Given the description of an element on the screen output the (x, y) to click on. 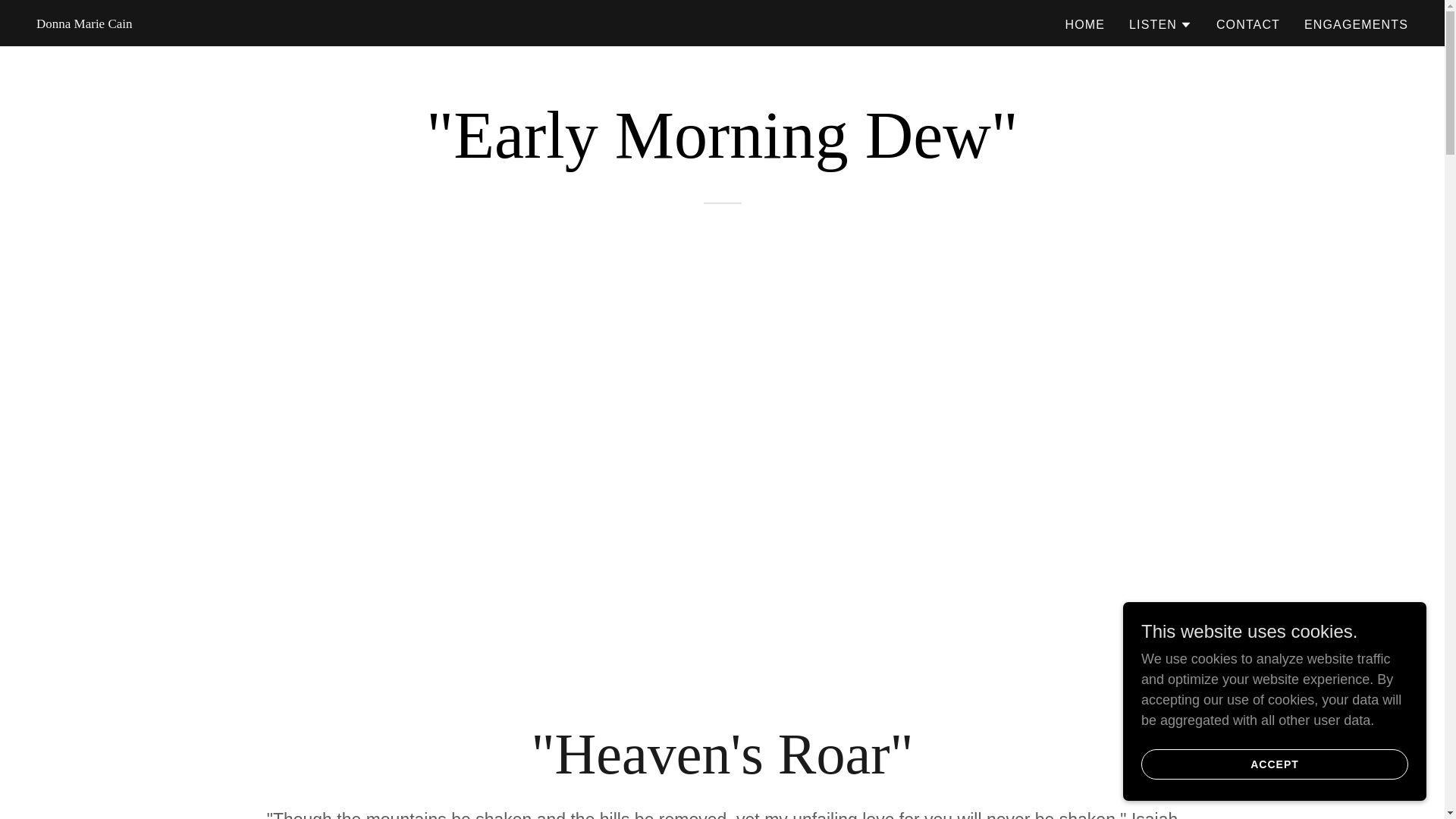
HOME (1085, 24)
ACCEPT (1274, 764)
Donna Marie Cain (84, 23)
ENGAGEMENTS (1356, 24)
CONTACT (1247, 24)
Donna Marie Cain (84, 23)
LISTEN (1160, 24)
